Given the description of an element on the screen output the (x, y) to click on. 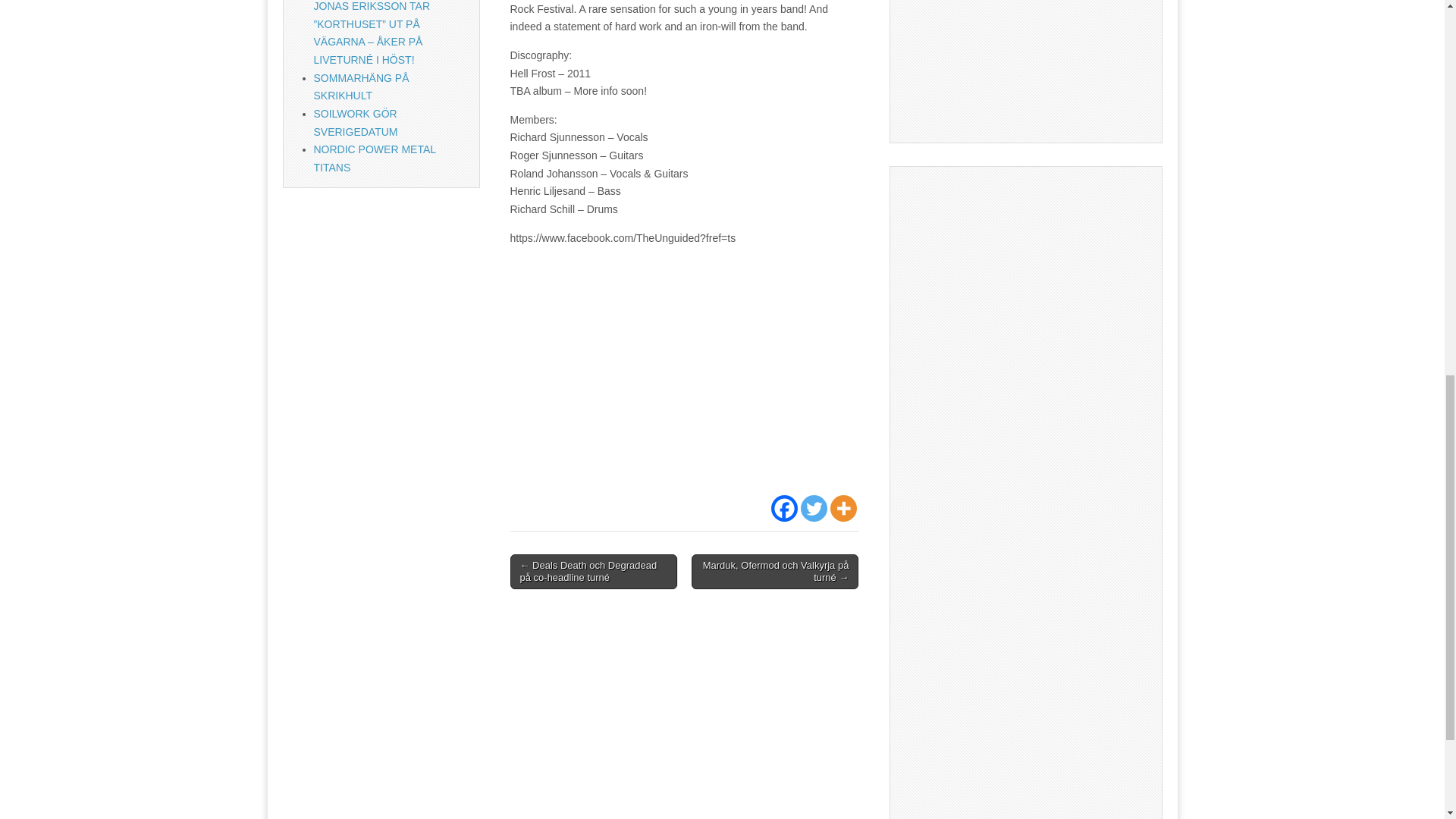
Twitter (813, 508)
More (843, 508)
Facebook (784, 508)
